Given the description of an element on the screen output the (x, y) to click on. 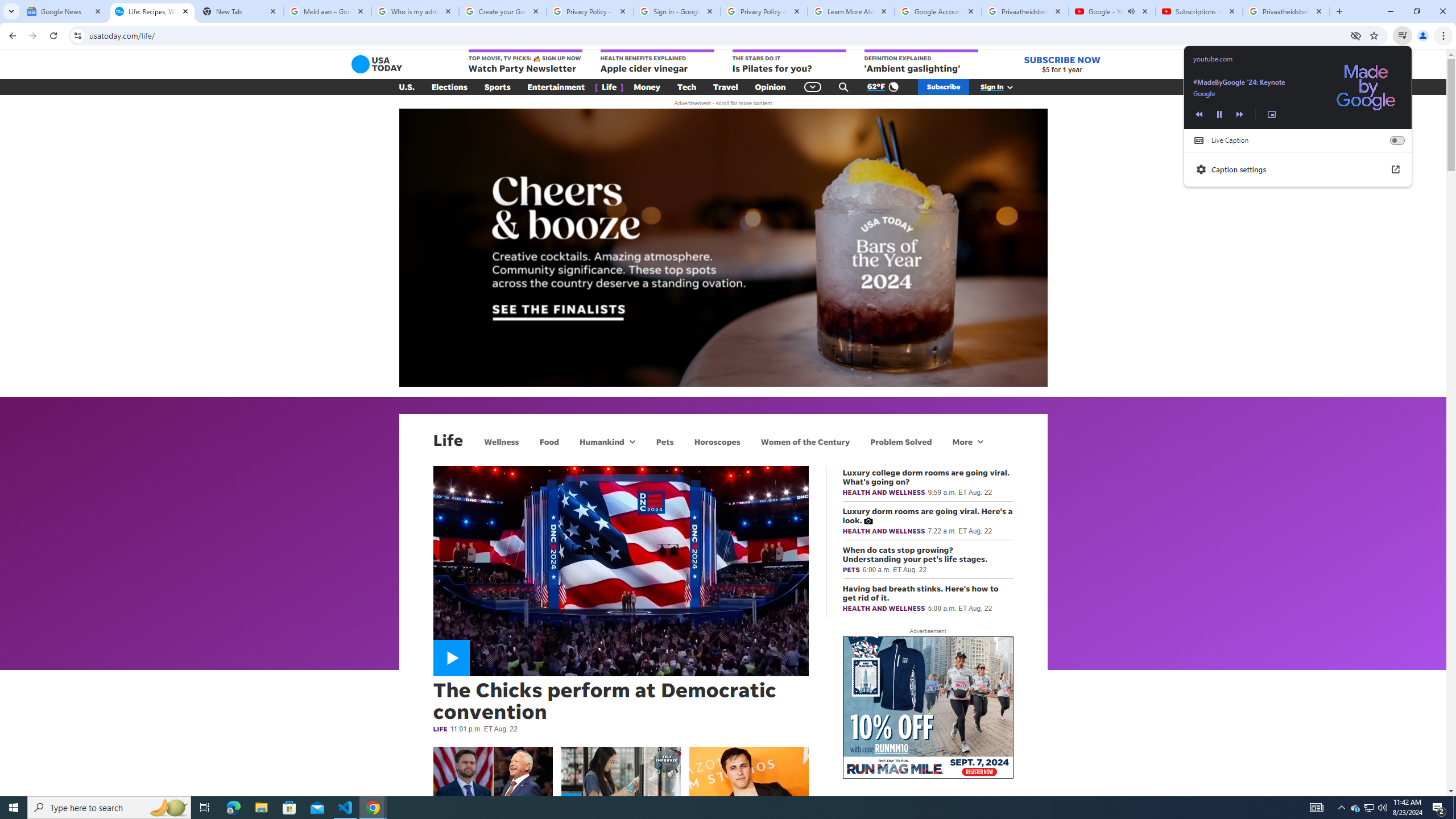
Elections (449, 87)
Notification Chevron (1341, 807)
Tech (686, 87)
Sign In (1002, 87)
